Given the description of an element on the screen output the (x, y) to click on. 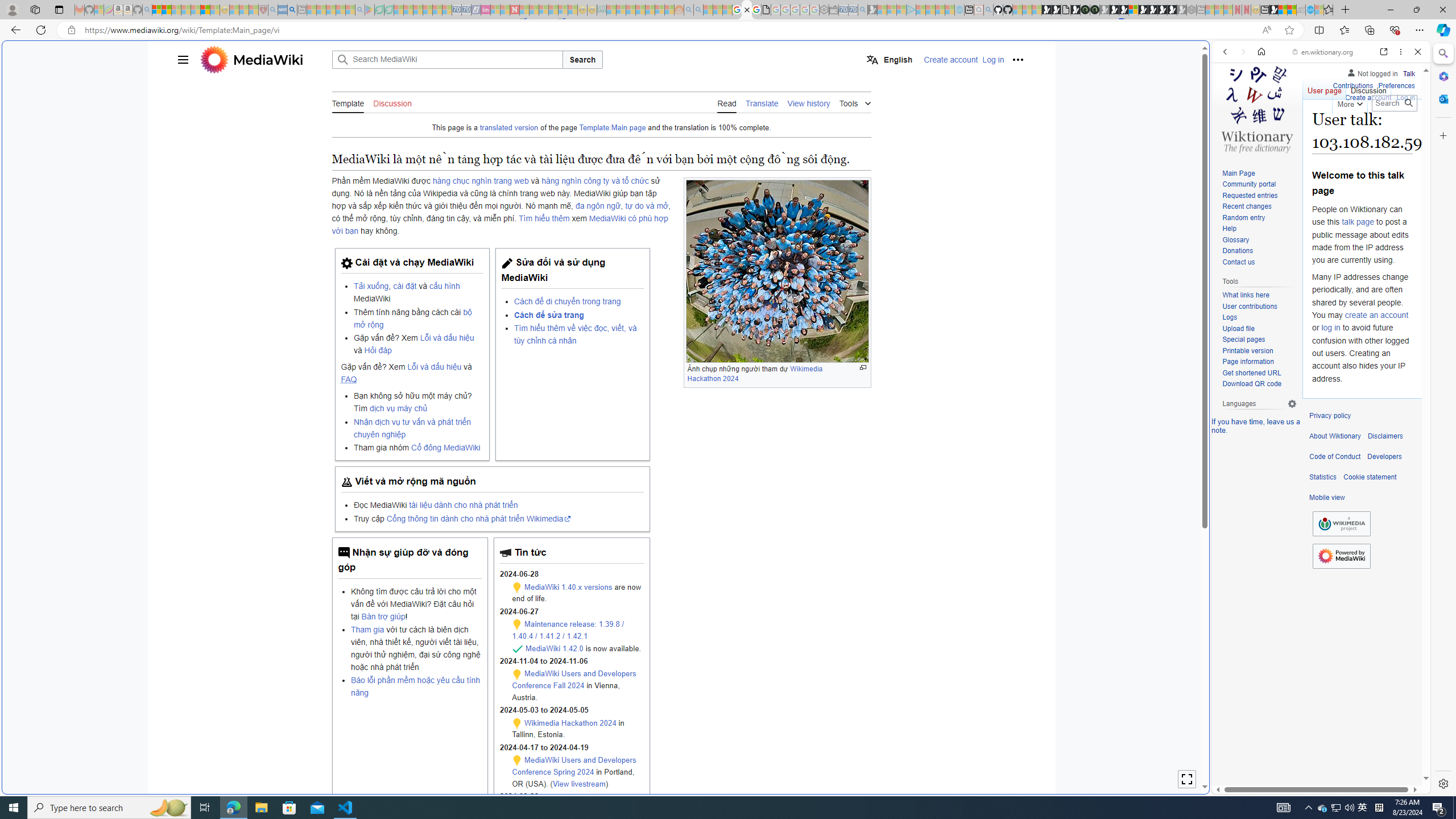
Create account (1367, 98)
Community portal (1259, 184)
MediaWiki 1.40.x versions (568, 586)
Translate (761, 102)
Main Page (1259, 173)
MediaWiki Users and Developers Conference Spring 2024 (574, 765)
User contributions (1248, 306)
